Given the description of an element on the screen output the (x, y) to click on. 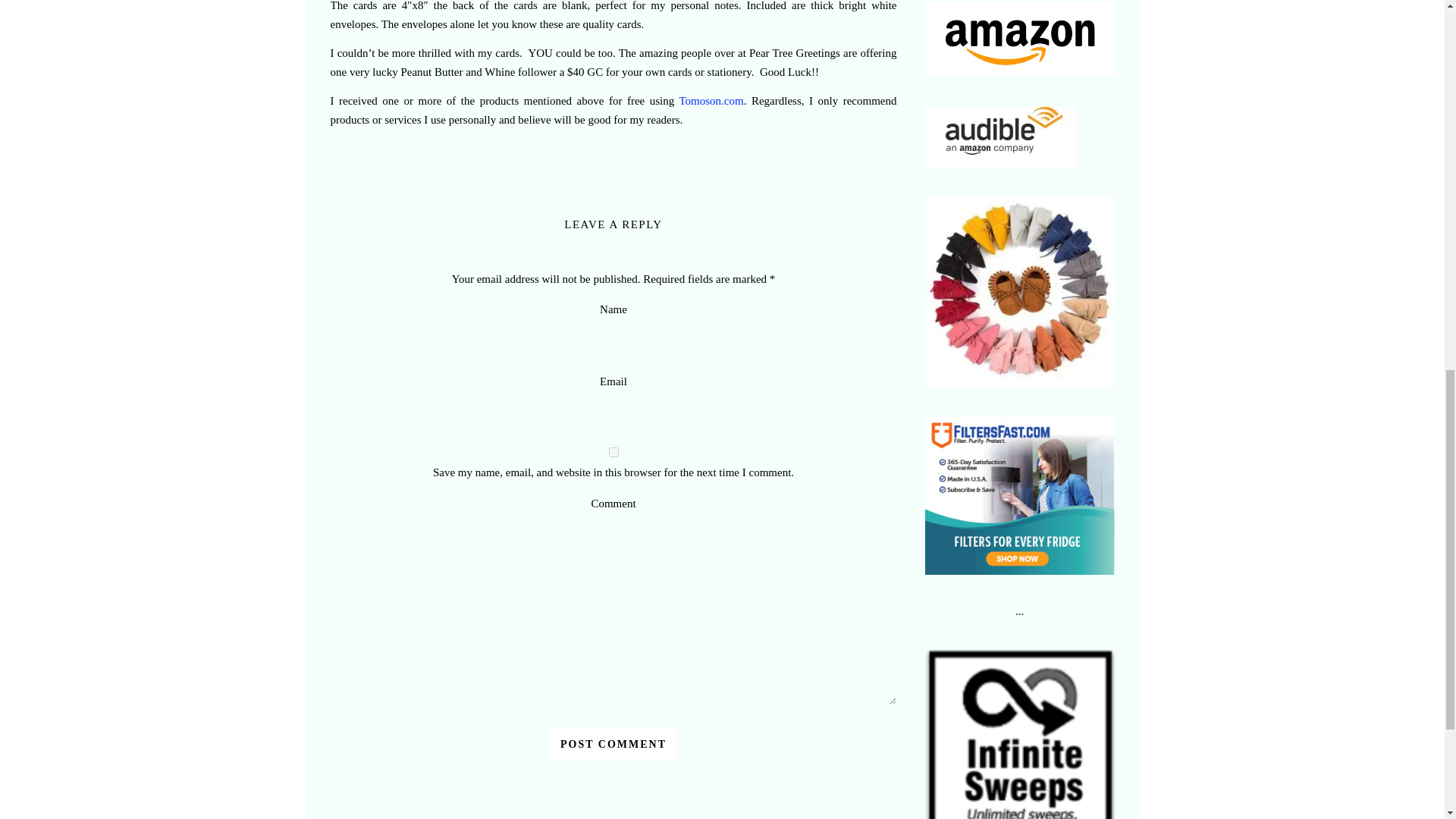
Post Comment (613, 744)
Tomoson.com (711, 101)
yes (612, 452)
Post Comment (613, 744)
